Given the description of an element on the screen output the (x, y) to click on. 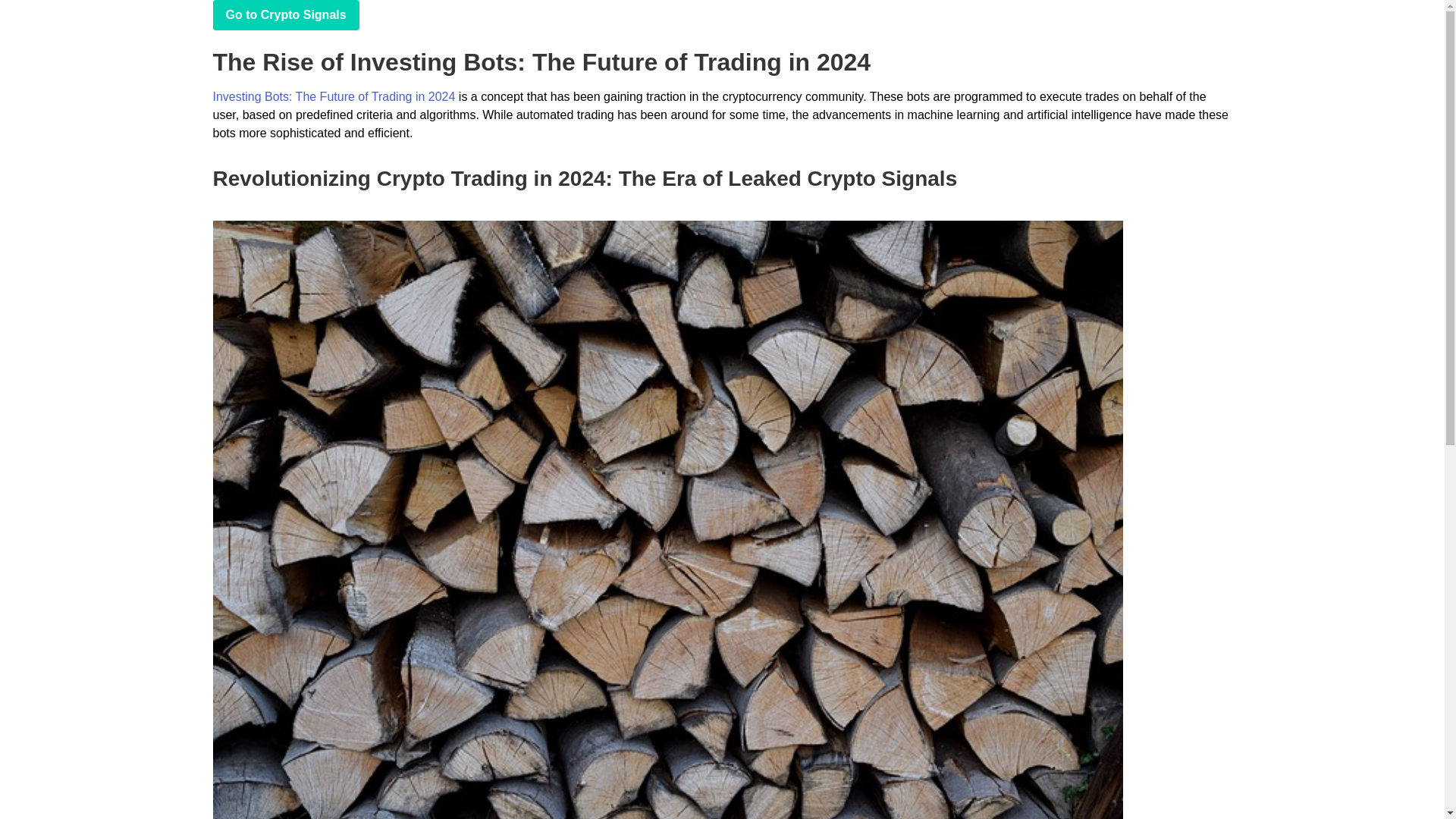
Investing Bots: The Future of Trading in 2024 (333, 96)
Go to Crypto Signals (285, 15)
play (285, 15)
